Given the description of an element on the screen output the (x, y) to click on. 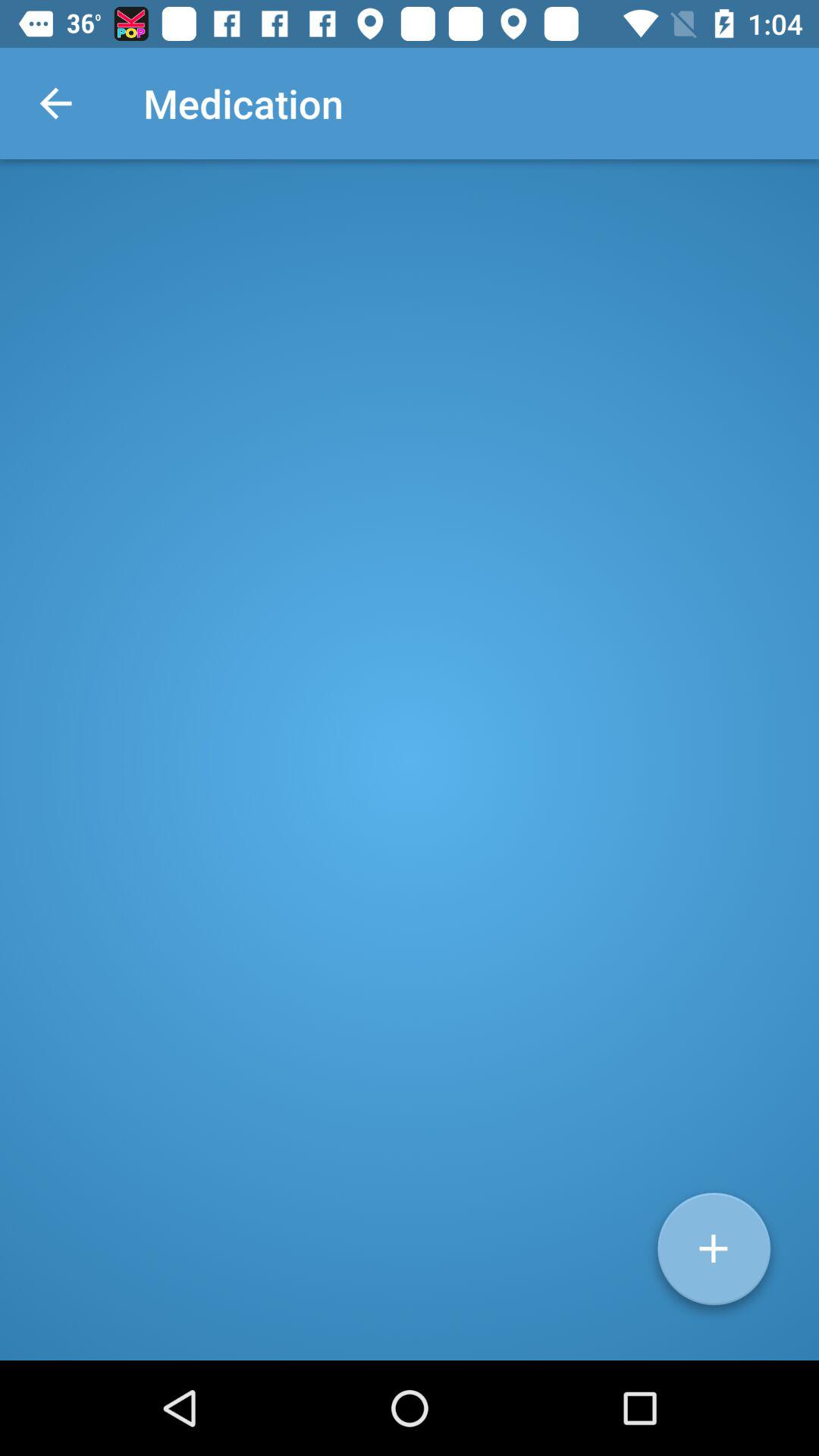
launch icon next to medication icon (55, 103)
